Given the description of an element on the screen output the (x, y) to click on. 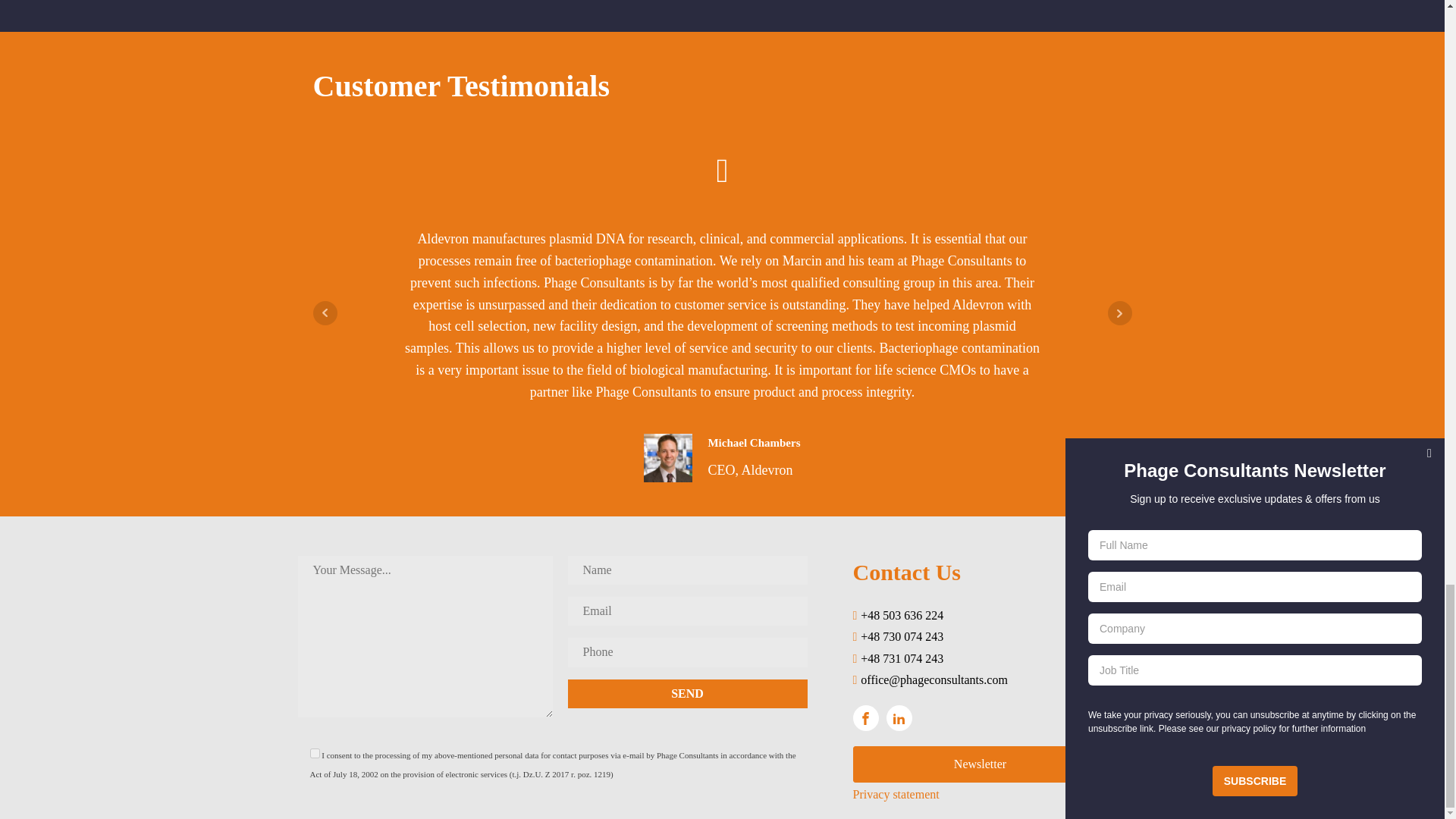
1 (313, 753)
Next (1118, 313)
Send (686, 693)
